Given the description of an element on the screen output the (x, y) to click on. 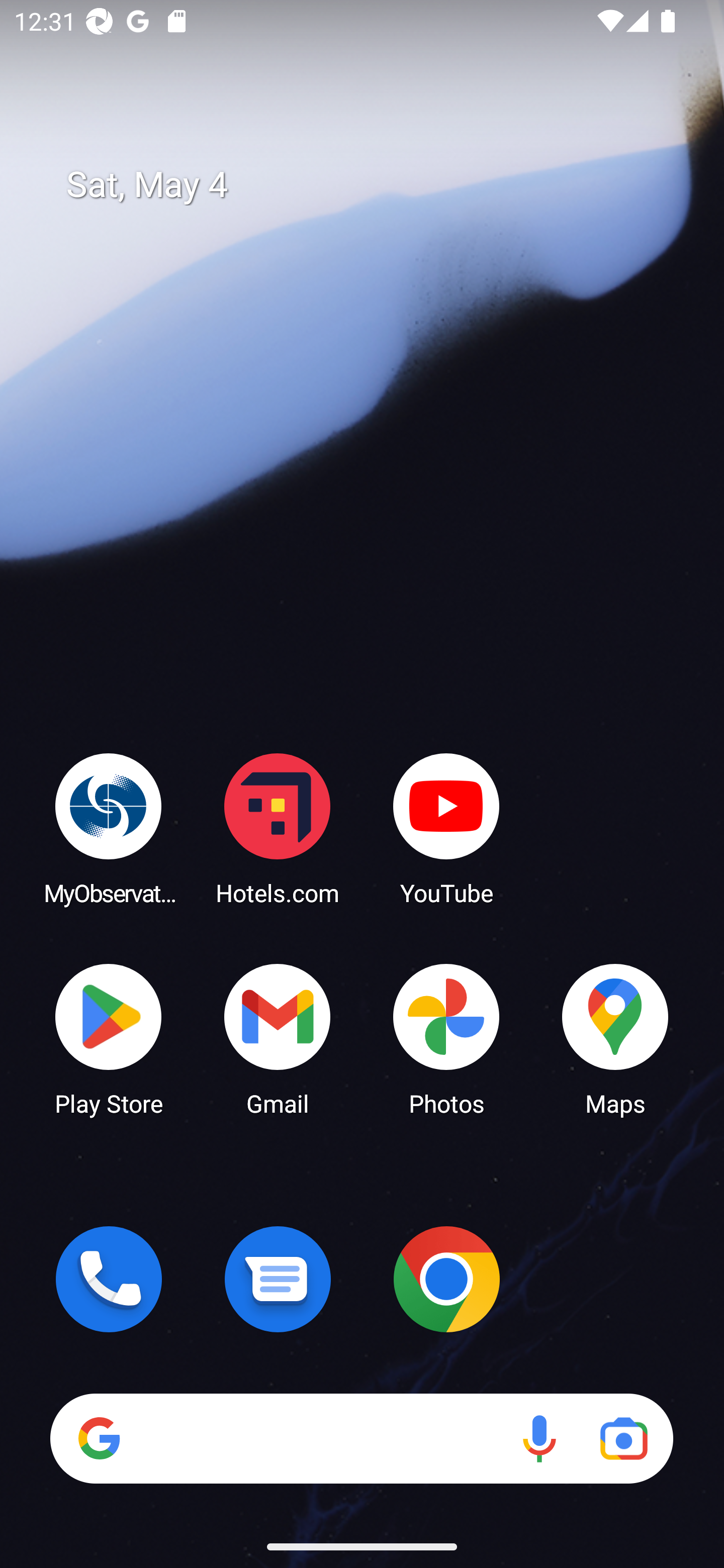
Sat, May 4 (375, 184)
MyObservatory (108, 828)
Hotels.com (277, 828)
YouTube (445, 828)
Play Store (108, 1038)
Gmail (277, 1038)
Photos (445, 1038)
Maps (615, 1038)
Phone (108, 1279)
Messages (277, 1279)
Chrome (446, 1279)
Search Voice search Google Lens (361, 1438)
Voice search (539, 1438)
Google Lens (623, 1438)
